Given the description of an element on the screen output the (x, y) to click on. 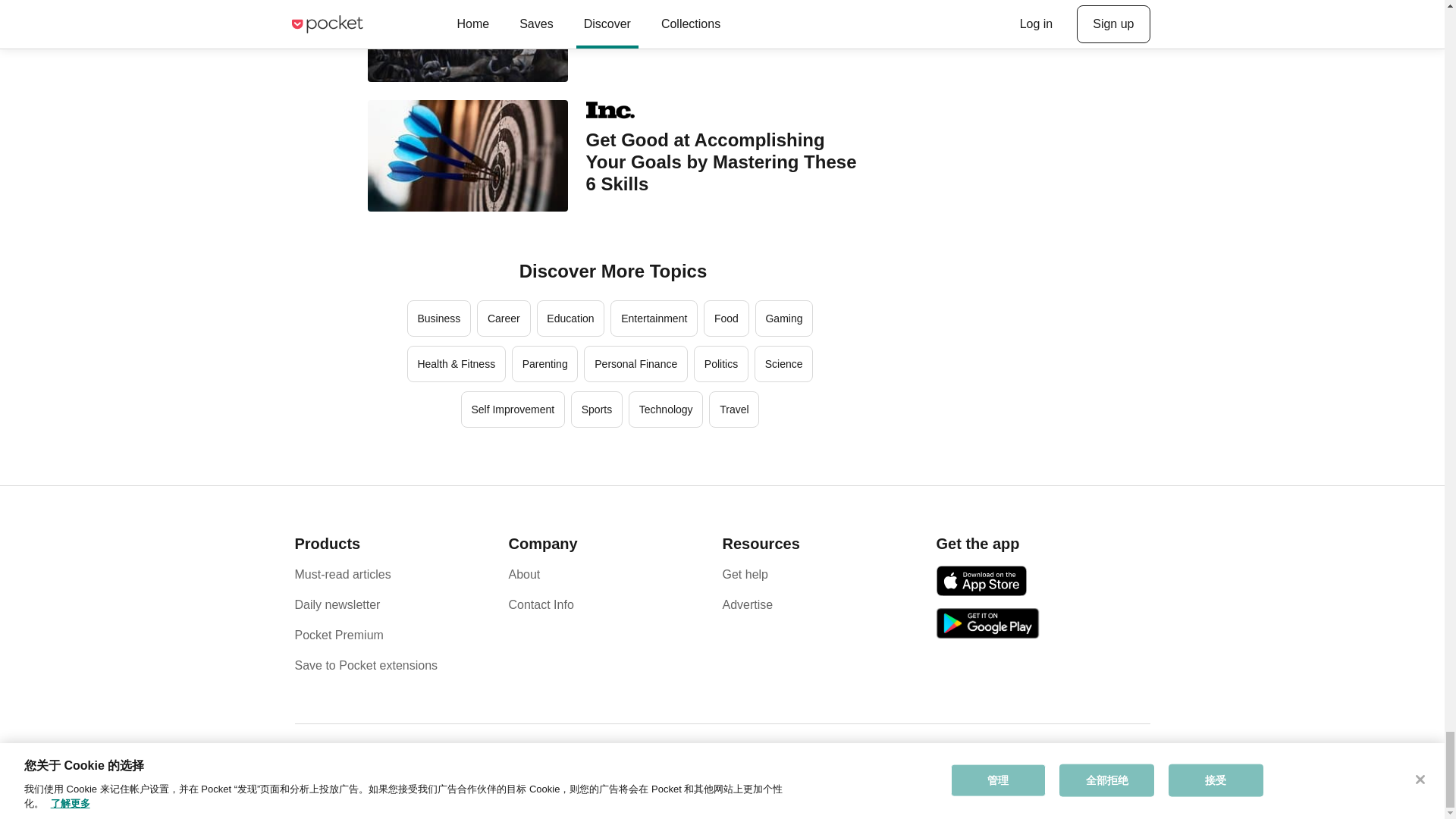
Instagram (1129, 765)
Twitter (1110, 765)
Facebook (1091, 765)
Business (438, 318)
